Given the description of an element on the screen output the (x, y) to click on. 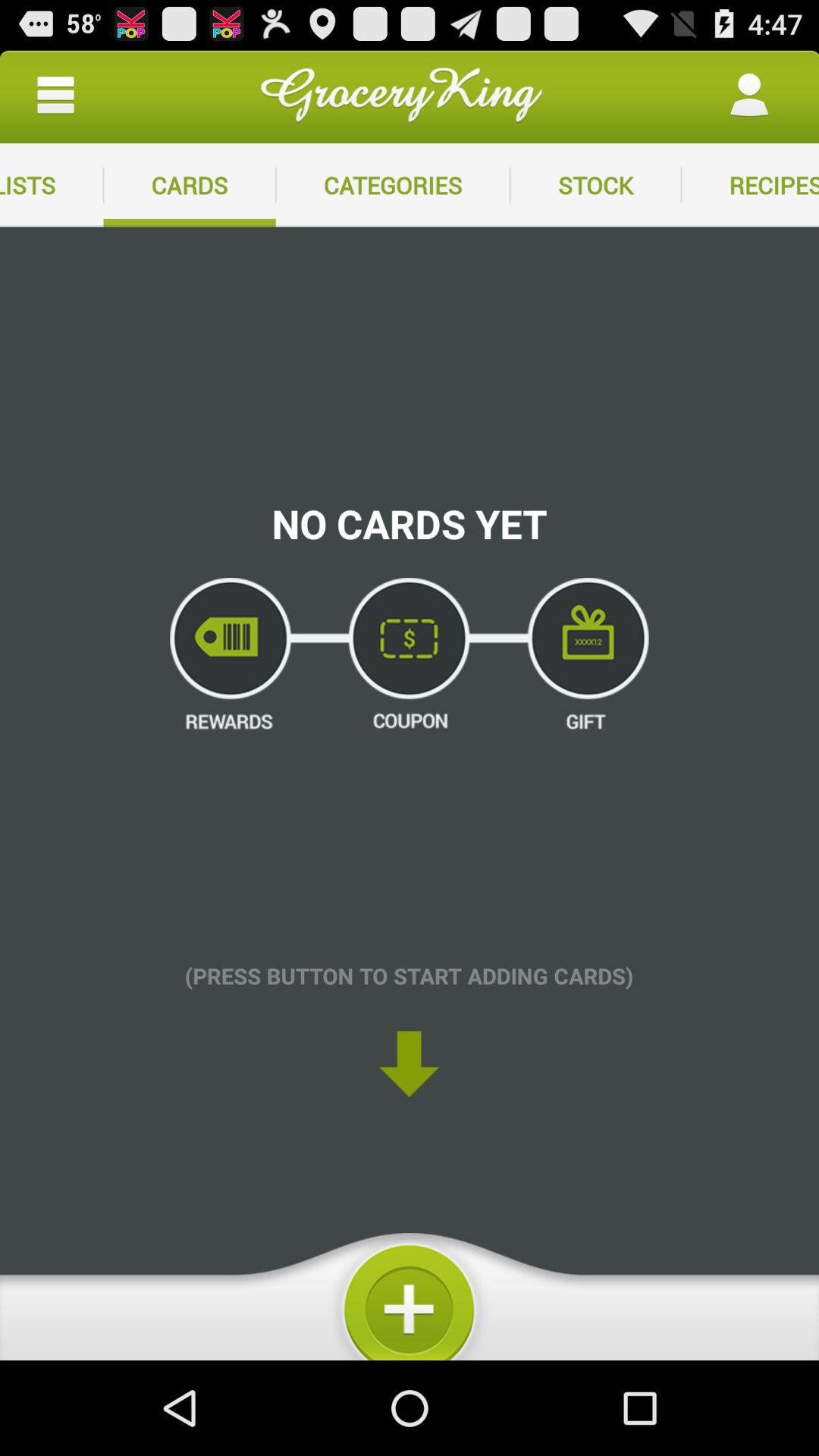
press the app next to stock item (750, 184)
